Given the description of an element on the screen output the (x, y) to click on. 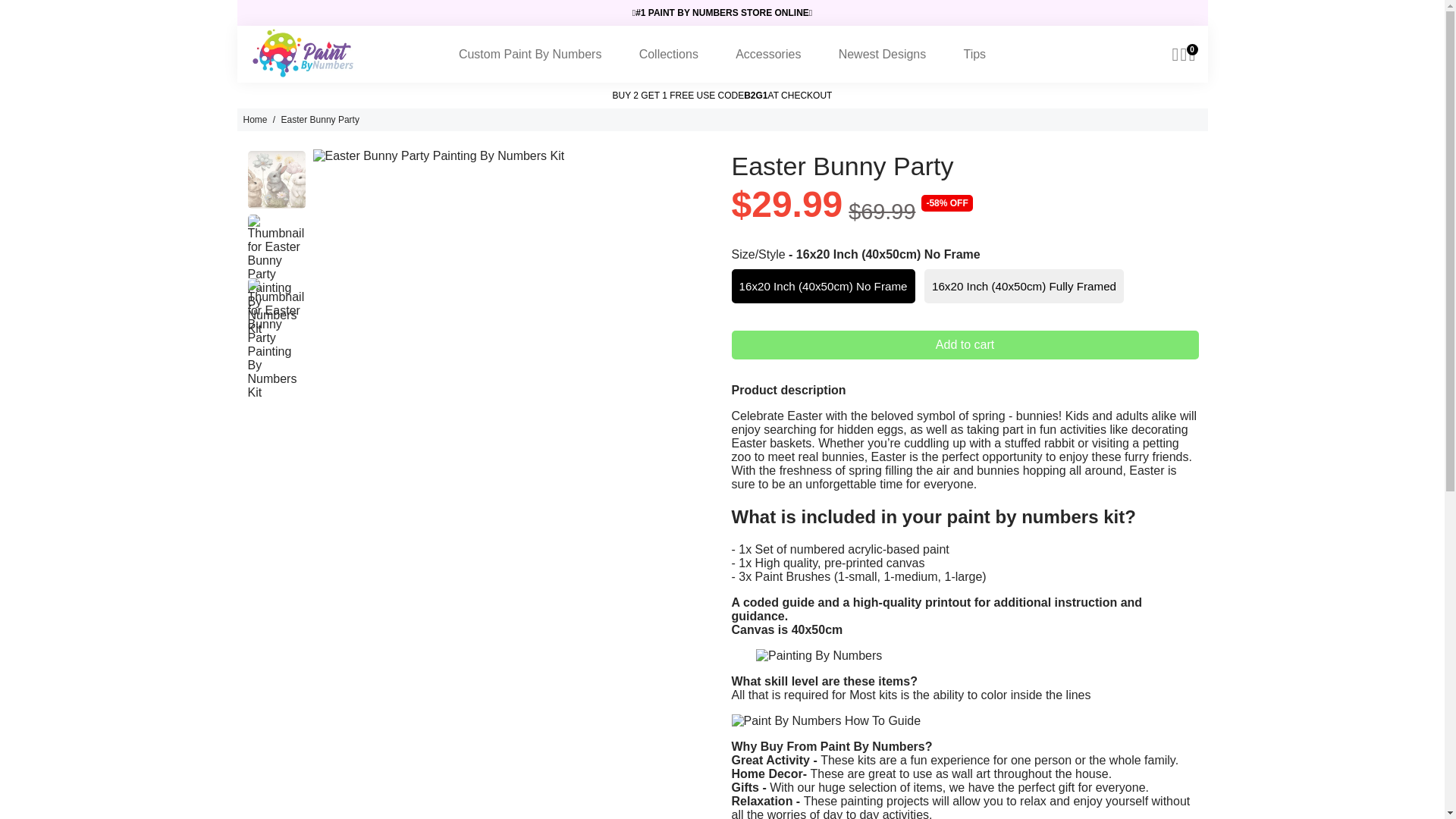
Tips (974, 53)
Add to cart (964, 344)
Collections (668, 53)
Home (254, 119)
Home (254, 119)
Custom Paint By Numbers (529, 53)
Accessories (767, 53)
Newest Designs (883, 53)
